Given the description of an element on the screen output the (x, y) to click on. 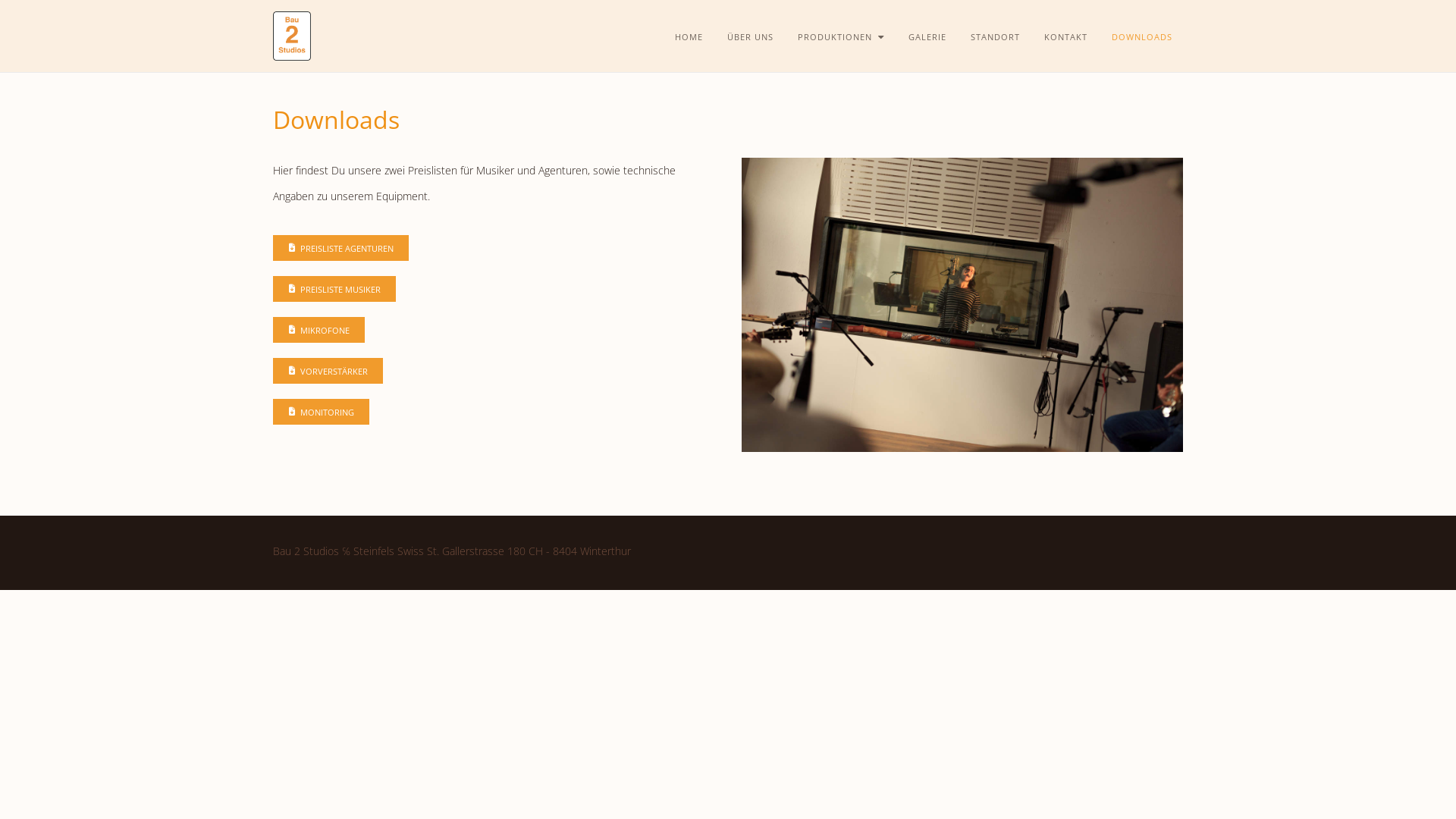
PREISLISTE AGENTUREN Element type: text (340, 247)
PREISLISTE MUSIKER Element type: text (334, 288)
KONTAKT Element type: text (1065, 36)
STANDORT Element type: text (995, 36)
Bau 2 Studios Element type: hover (291, 35)
DOWNLOADS Element type: text (1142, 36)
MIKROFONE Element type: text (318, 329)
GALERIE Element type: text (927, 36)
HOME Element type: text (693, 36)
MONITORING Element type: text (321, 411)
